Given the description of an element on the screen output the (x, y) to click on. 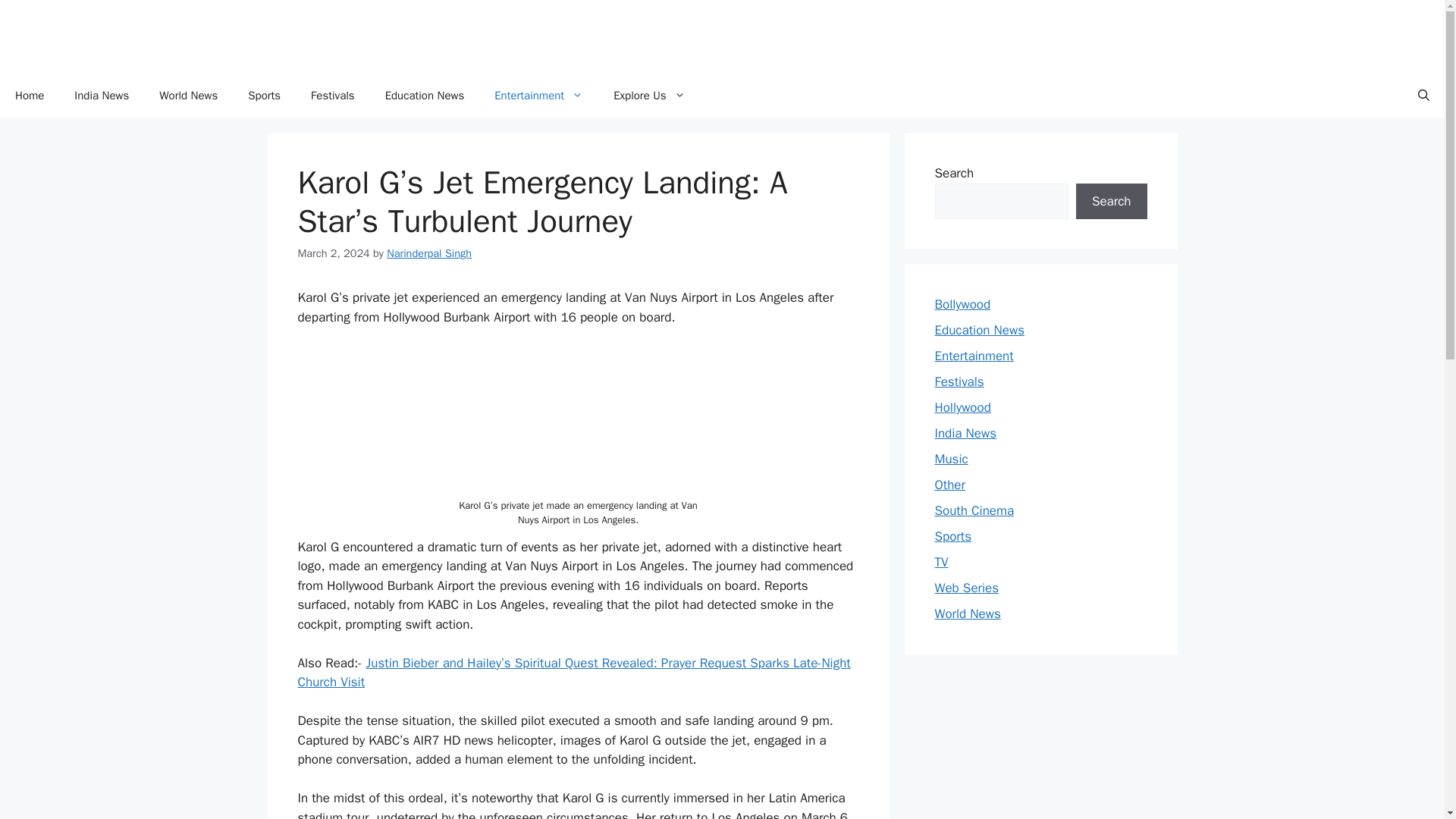
Entertainment (538, 94)
Explore Us (649, 94)
Education News (424, 94)
View all posts by Narinderpal Singh (429, 253)
Narinderpal Singh (429, 253)
Sports (263, 94)
World News (188, 94)
India News (101, 94)
Home (29, 94)
Festivals (332, 94)
